Given the description of an element on the screen output the (x, y) to click on. 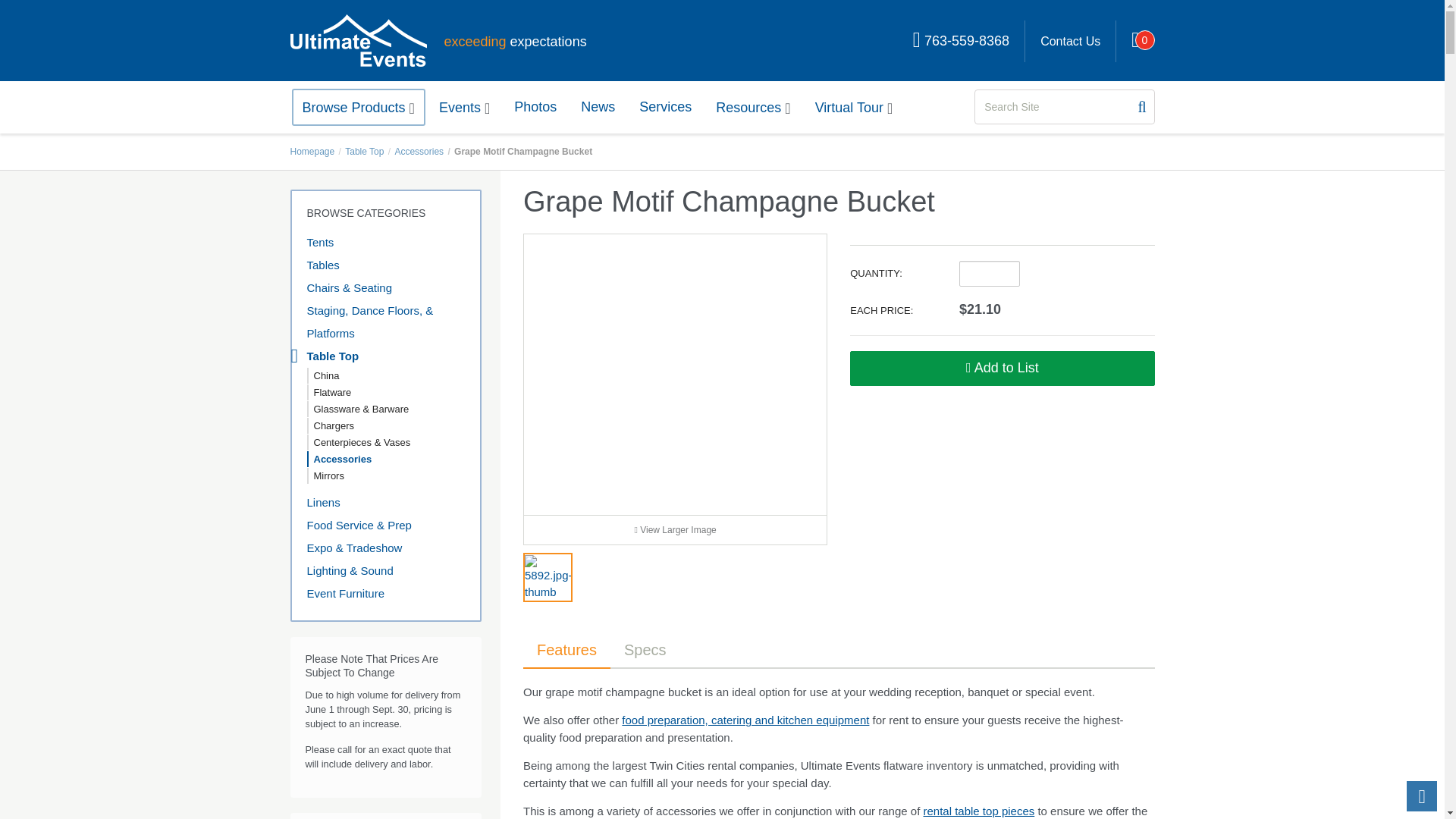
763-559-8368 (961, 41)
Browse Products (358, 107)
Contact Us (1070, 41)
Search (1141, 106)
0 (1135, 41)
